Given the description of an element on the screen output the (x, y) to click on. 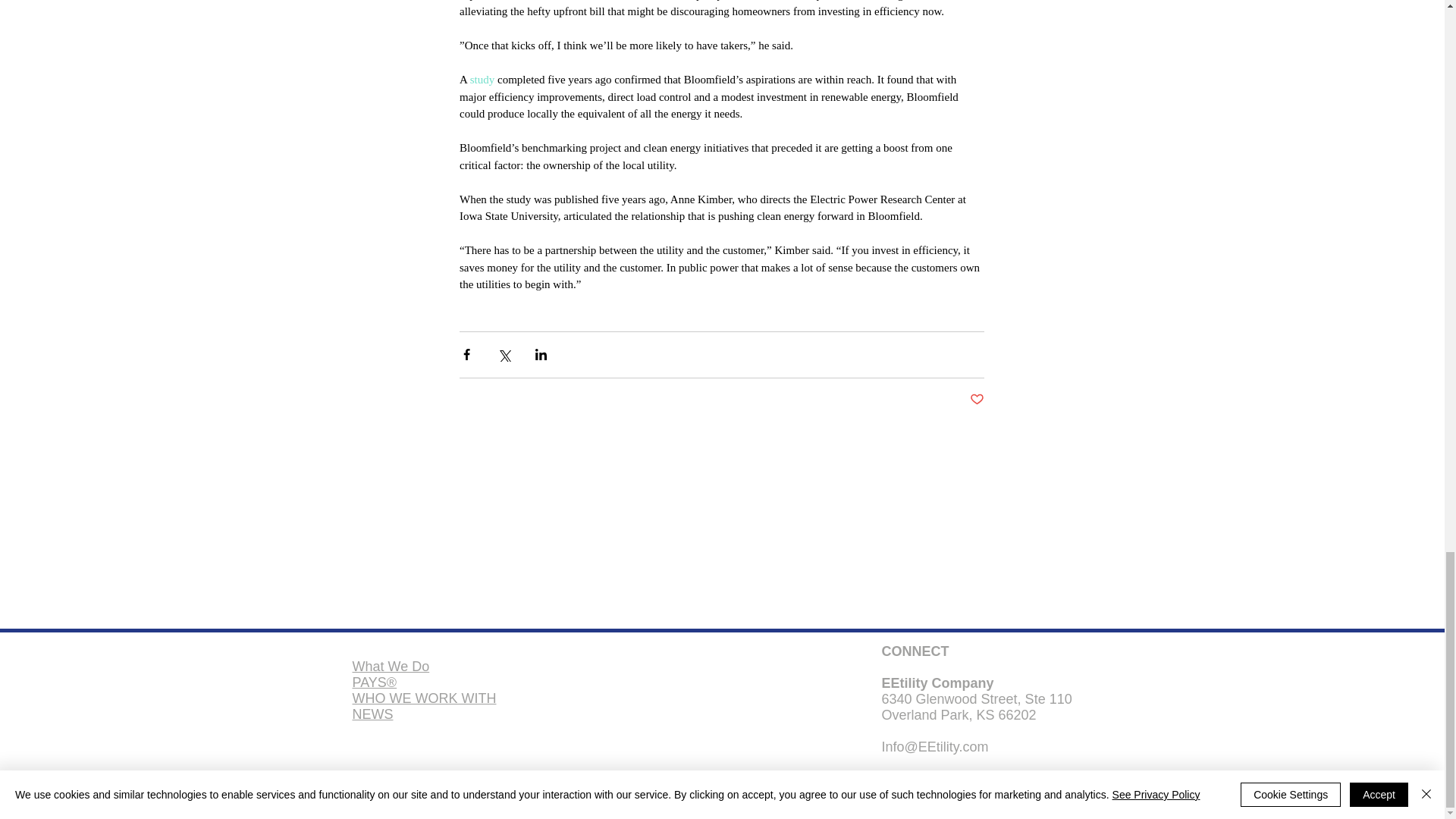
study (481, 79)
WHO WE WORK WITH (424, 698)
What We Do (390, 666)
NEWS (372, 713)
Post not marked as liked (976, 399)
